Given the description of an element on the screen output the (x, y) to click on. 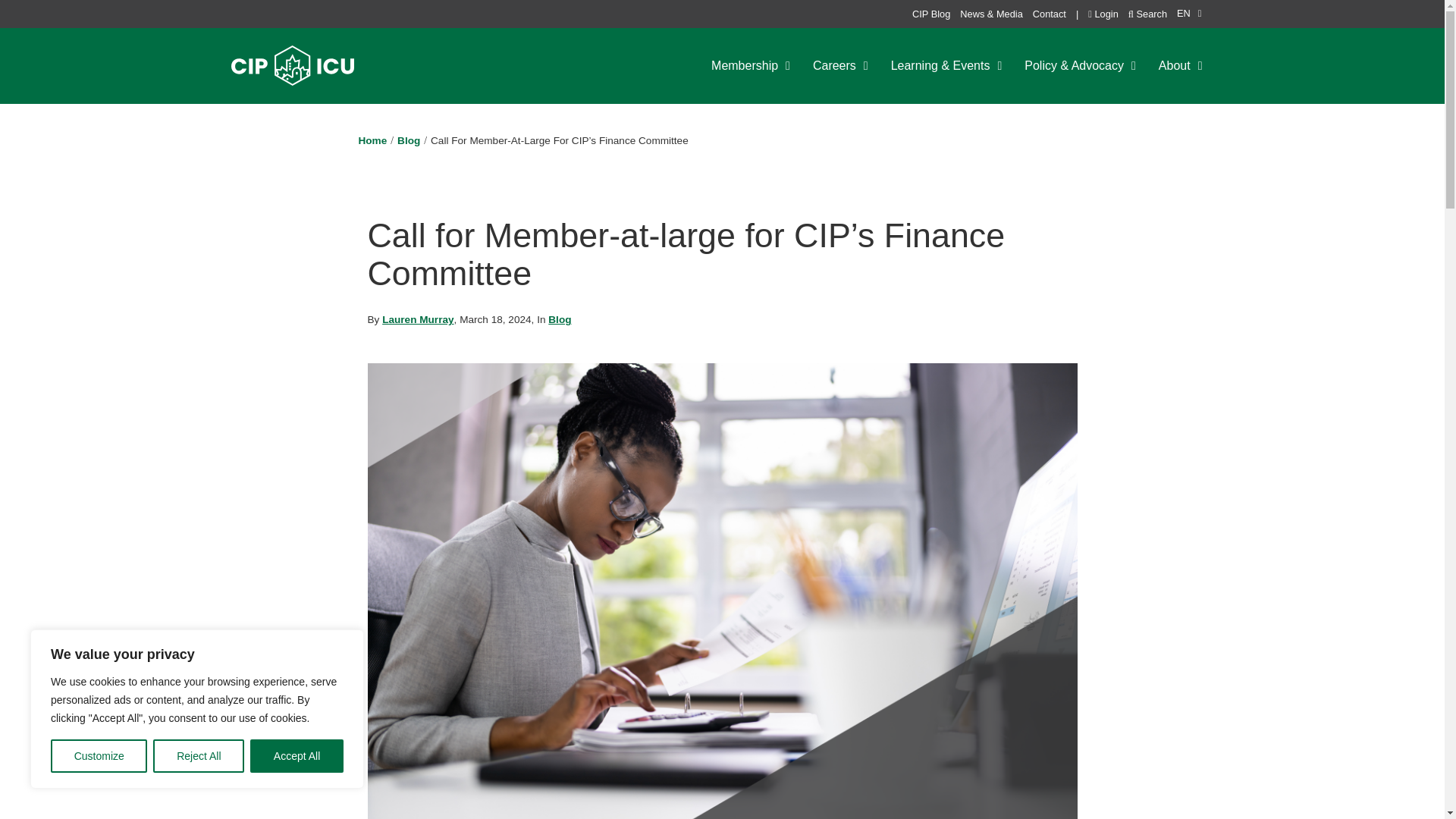
EN (1188, 13)
Accept All (296, 756)
CIP Blog (931, 12)
Login (1102, 12)
Reject All (198, 756)
Customize (98, 756)
Membership (751, 65)
Careers (840, 65)
Search (1147, 12)
Contact (1048, 12)
EN (1188, 13)
